Given the description of an element on the screen output the (x, y) to click on. 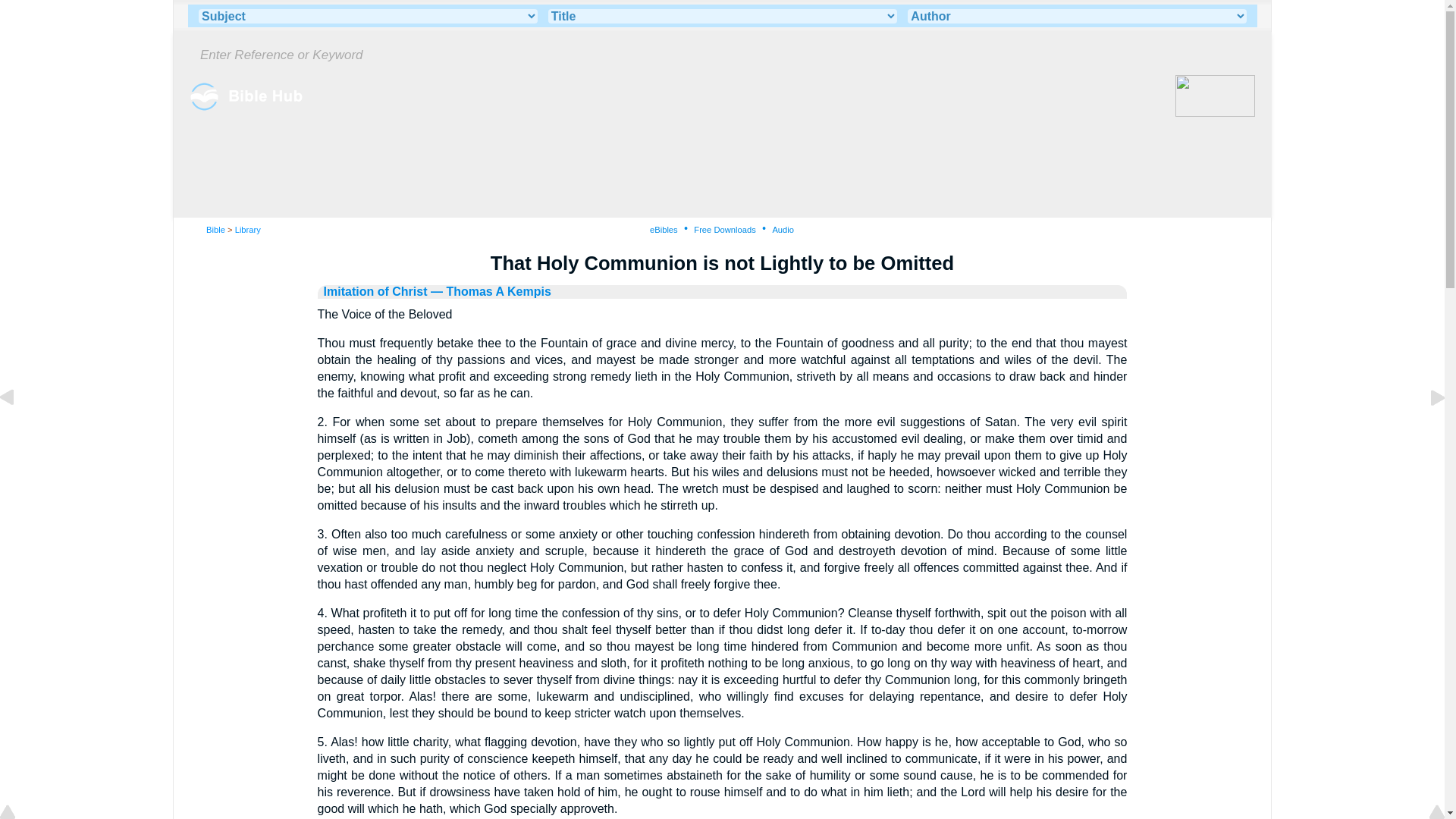
Bible (215, 229)
Library (247, 229)
Imitation of Christ (375, 291)
Top of Page (18, 813)
chapter ix that we ought (18, 431)
